Given the description of an element on the screen output the (x, y) to click on. 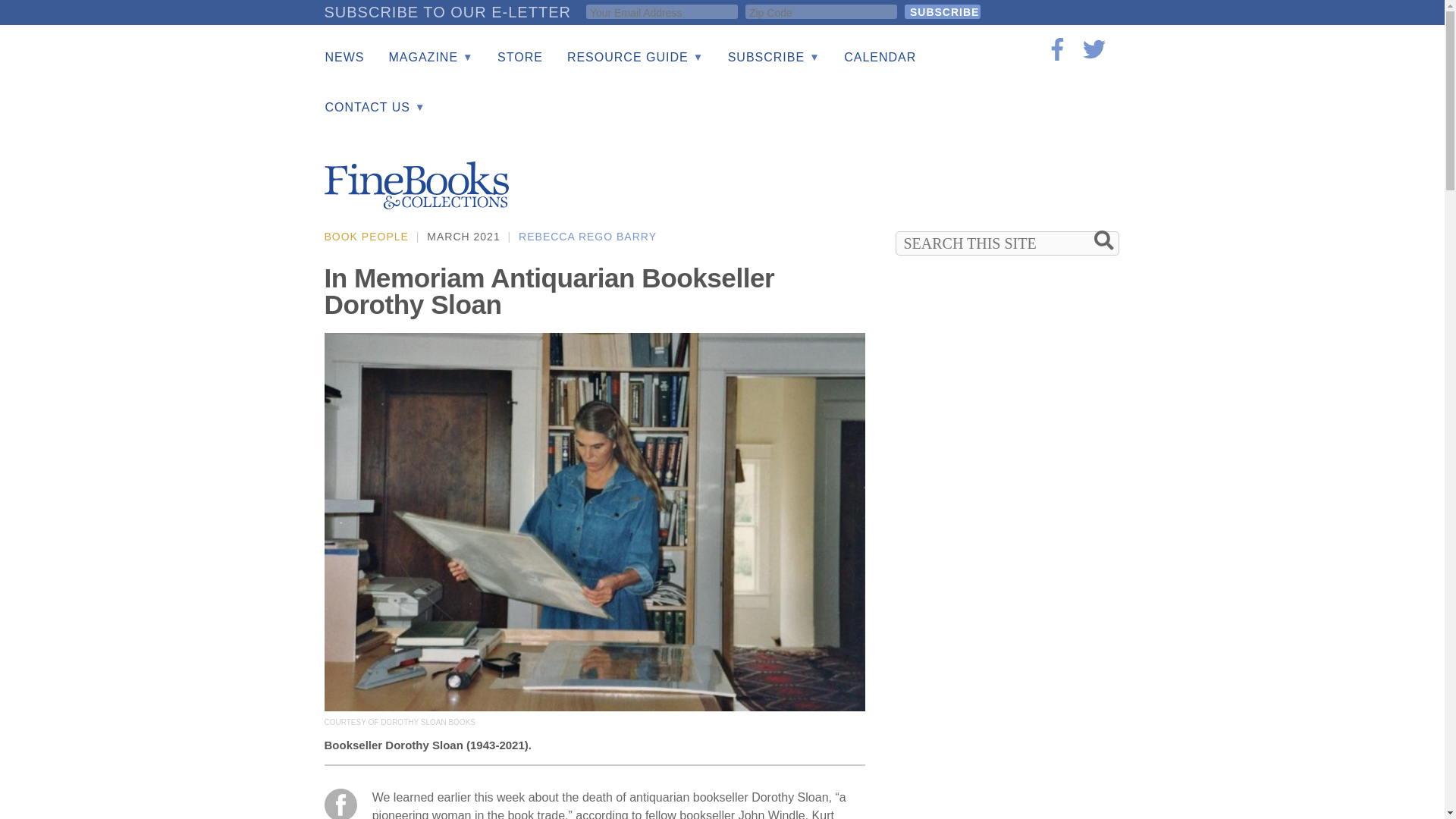
NEWS (344, 57)
3rd party ad content (1008, 778)
Subscribe (941, 11)
REBECCA REGO BARRY (587, 236)
CALENDAR (879, 57)
3rd party ad content (845, 174)
BOOK PEOPLE (366, 236)
Subscribe (941, 11)
STORE (519, 57)
